Given the description of an element on the screen output the (x, y) to click on. 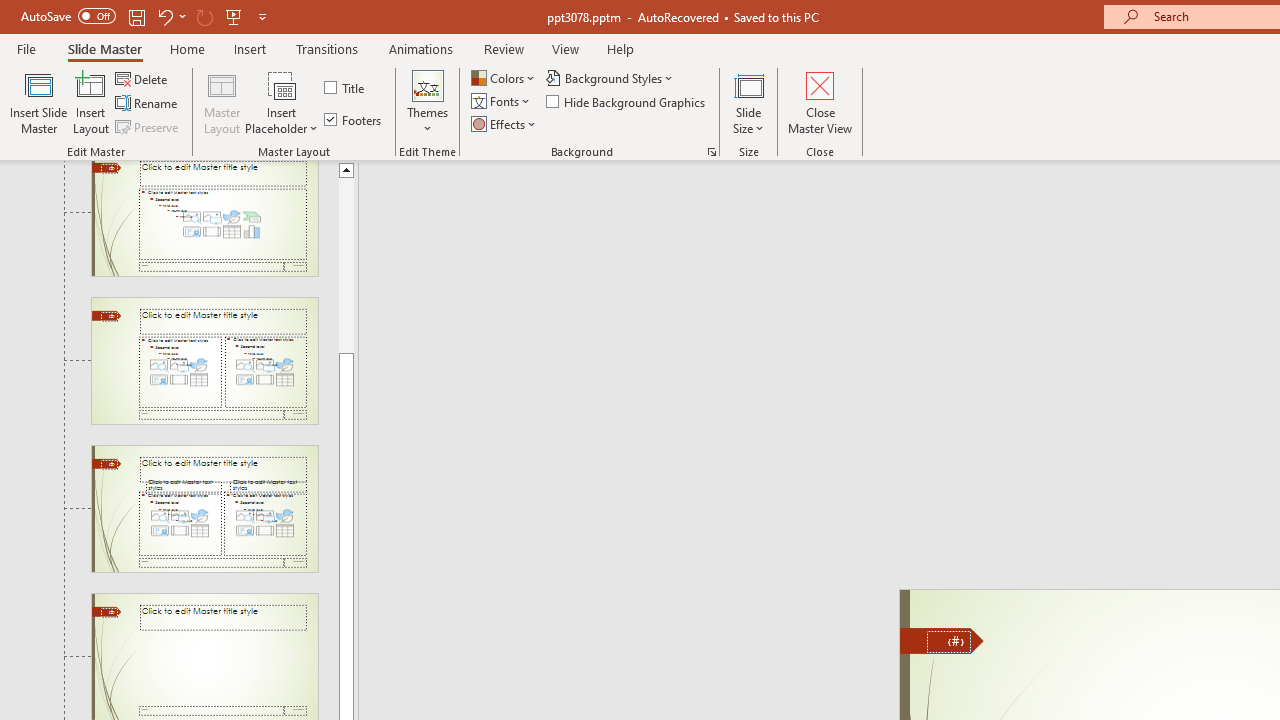
Hide Background Graphics (626, 101)
Rename (148, 103)
Background Styles (610, 78)
Content (282, 84)
Footers (354, 119)
Insert Slide Master (38, 102)
Preserve (148, 126)
Insert Layout (91, 102)
